Given the description of an element on the screen output the (x, y) to click on. 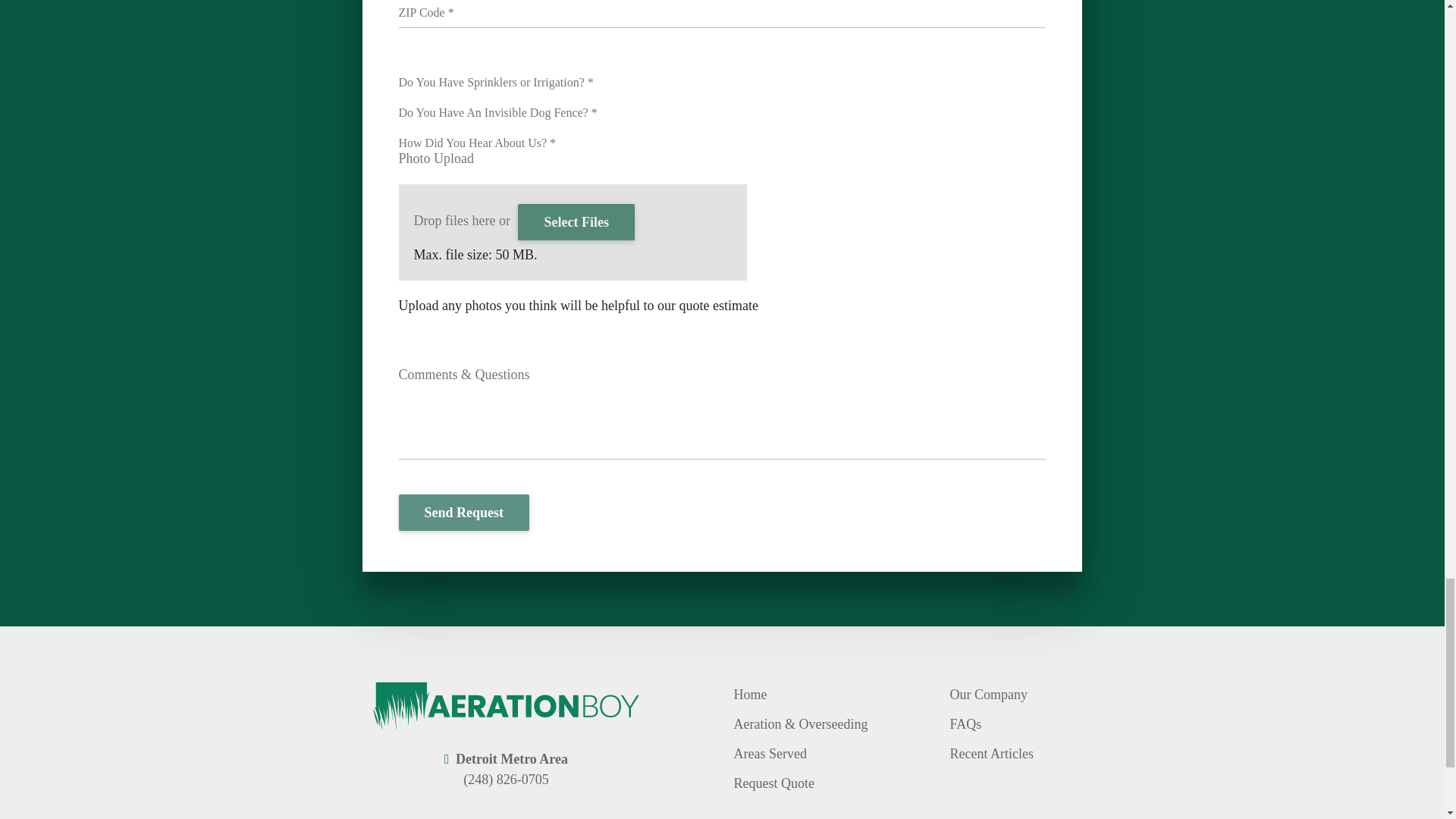
FAQs (965, 725)
Request Quote (773, 784)
Our Company (988, 695)
Select Files (575, 221)
Send Request (463, 512)
Detroit Metro Area (511, 758)
Areas Served (769, 754)
Send Request (463, 512)
Recent Articles (990, 754)
Home (750, 695)
